Given the description of an element on the screen output the (x, y) to click on. 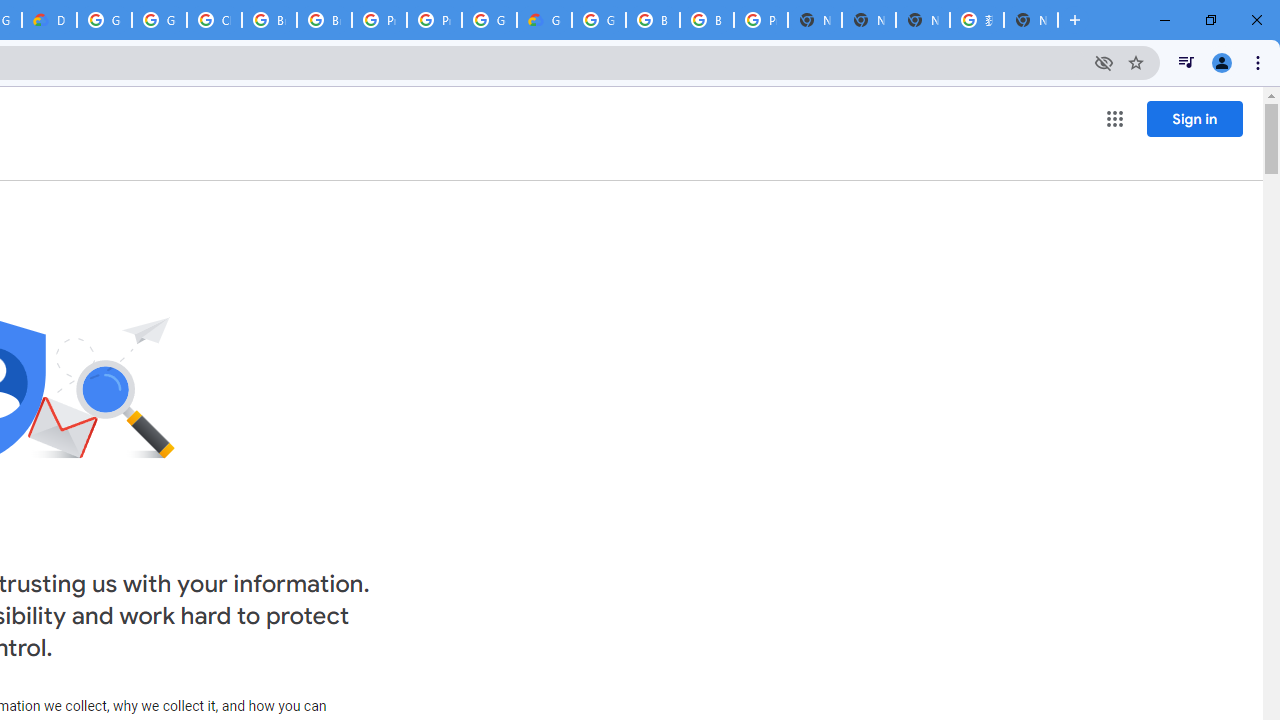
Browse Chrome as a guest - Computer - Google Chrome Help (652, 20)
Google Cloud Platform (103, 20)
New Tab (815, 20)
Google Cloud Platform (489, 20)
Google Cloud Estimate Summary (544, 20)
